Given the description of an element on the screen output the (x, y) to click on. 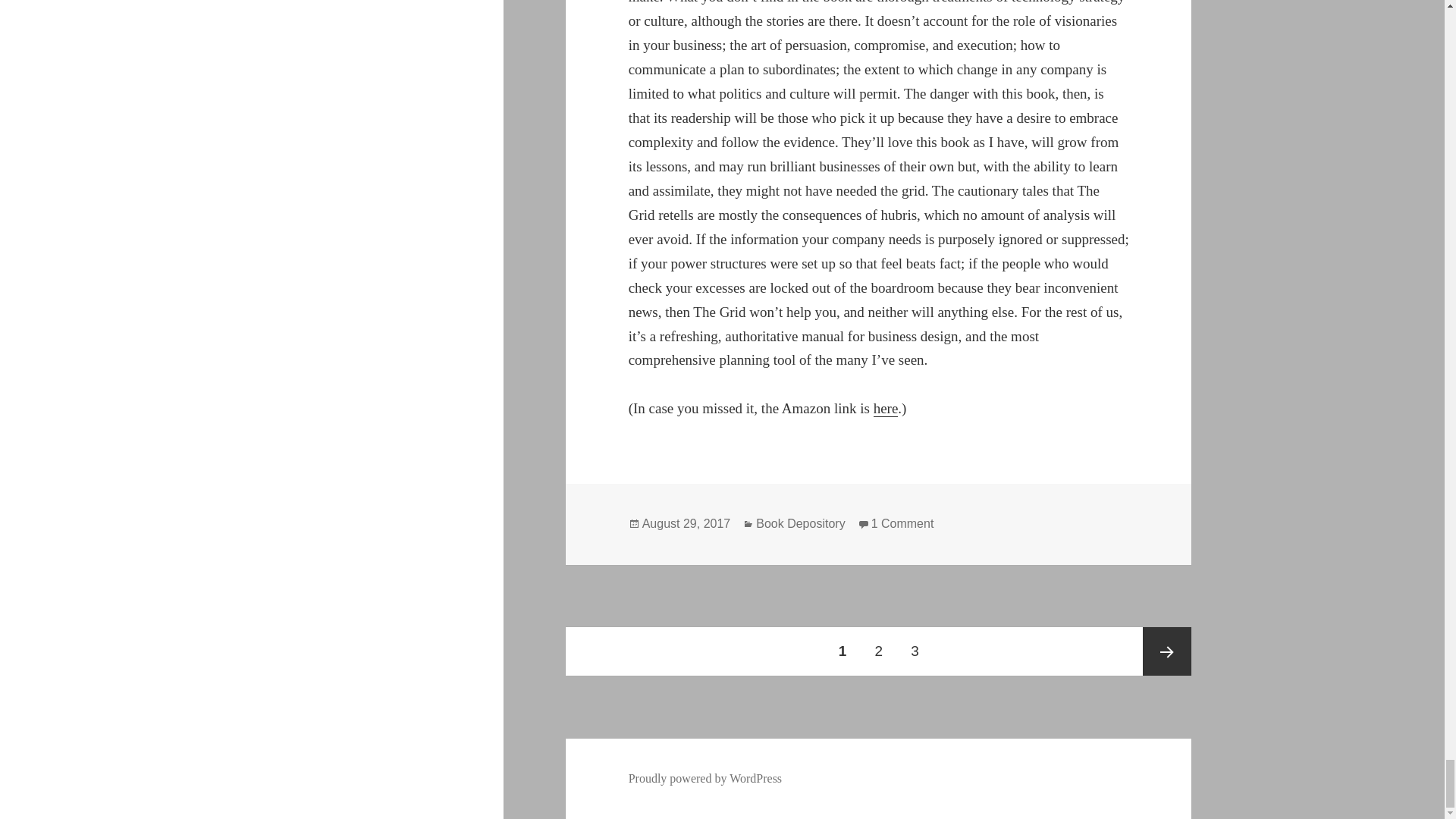
Book Depository (799, 523)
Next page (1166, 651)
here (885, 408)
Proudly powered by WordPress (902, 523)
August 29, 2017 (704, 778)
